Given the description of an element on the screen output the (x, y) to click on. 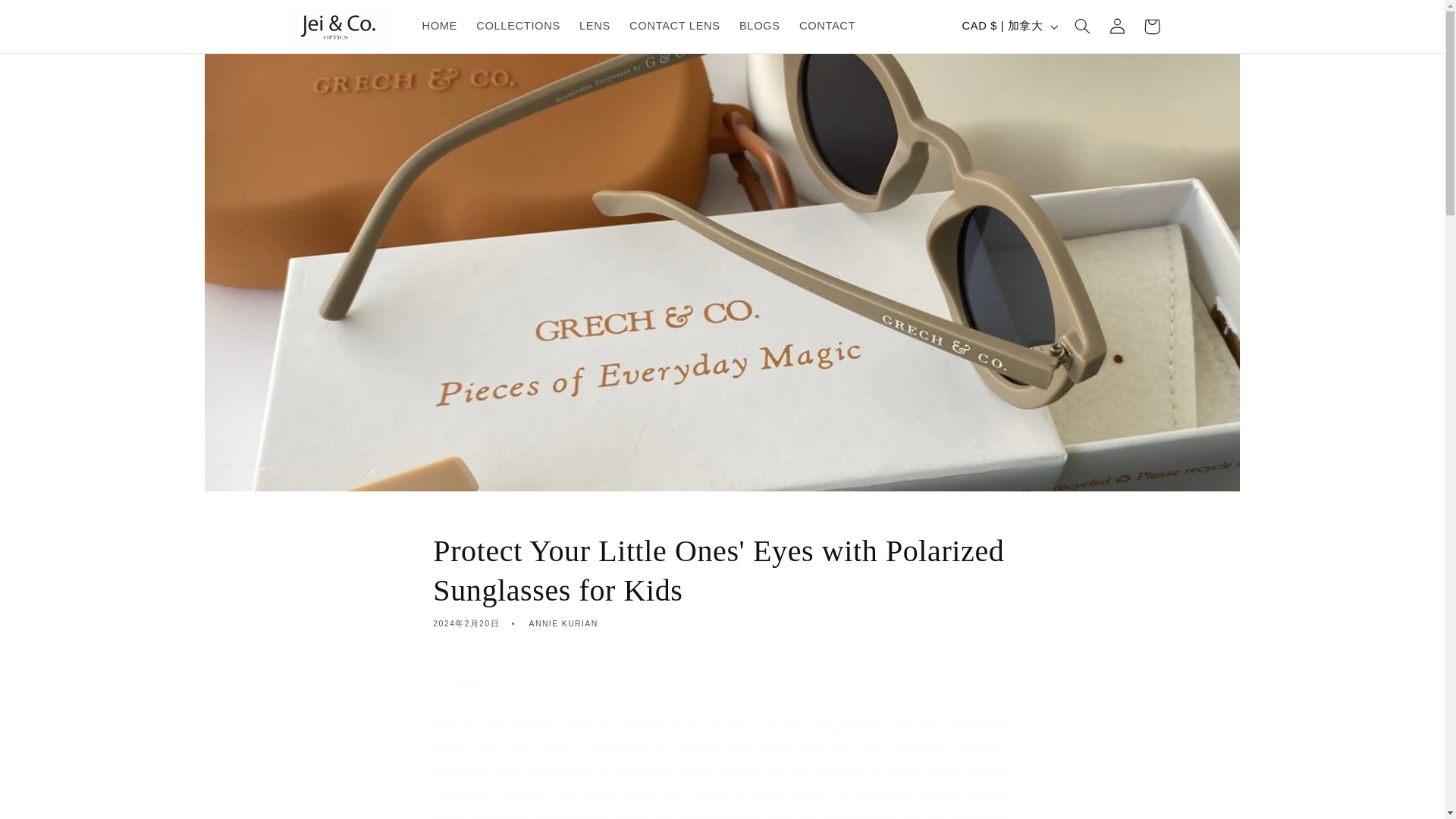
LENS (594, 26)
CONTACT (826, 26)
CONTACT LENS (675, 26)
COLLECTIONS (518, 26)
Share (721, 685)
BLOGS (759, 26)
HOME (439, 26)
